Given the description of an element on the screen output the (x, y) to click on. 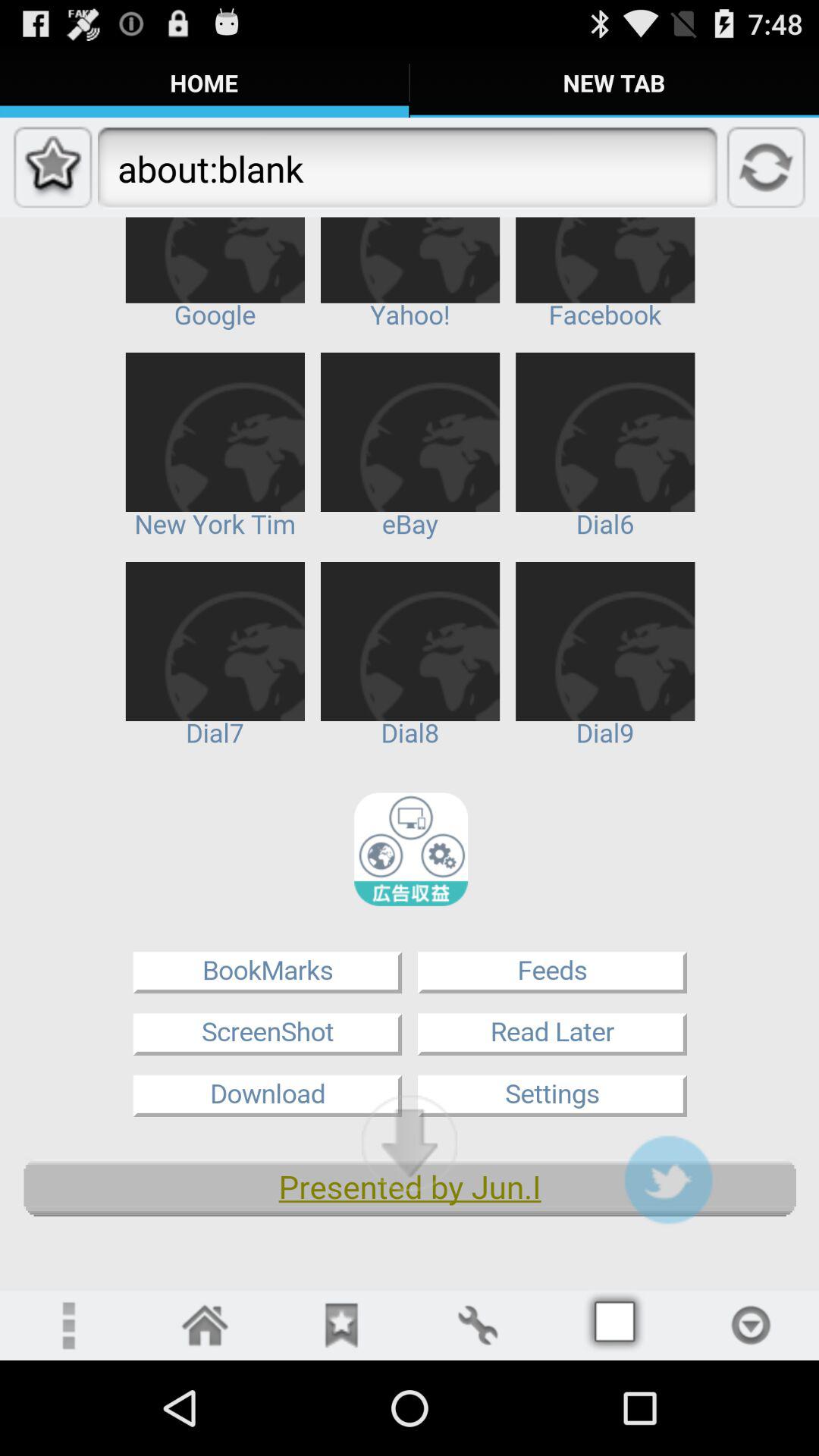
rotate button (477, 1325)
